Given the description of an element on the screen output the (x, y) to click on. 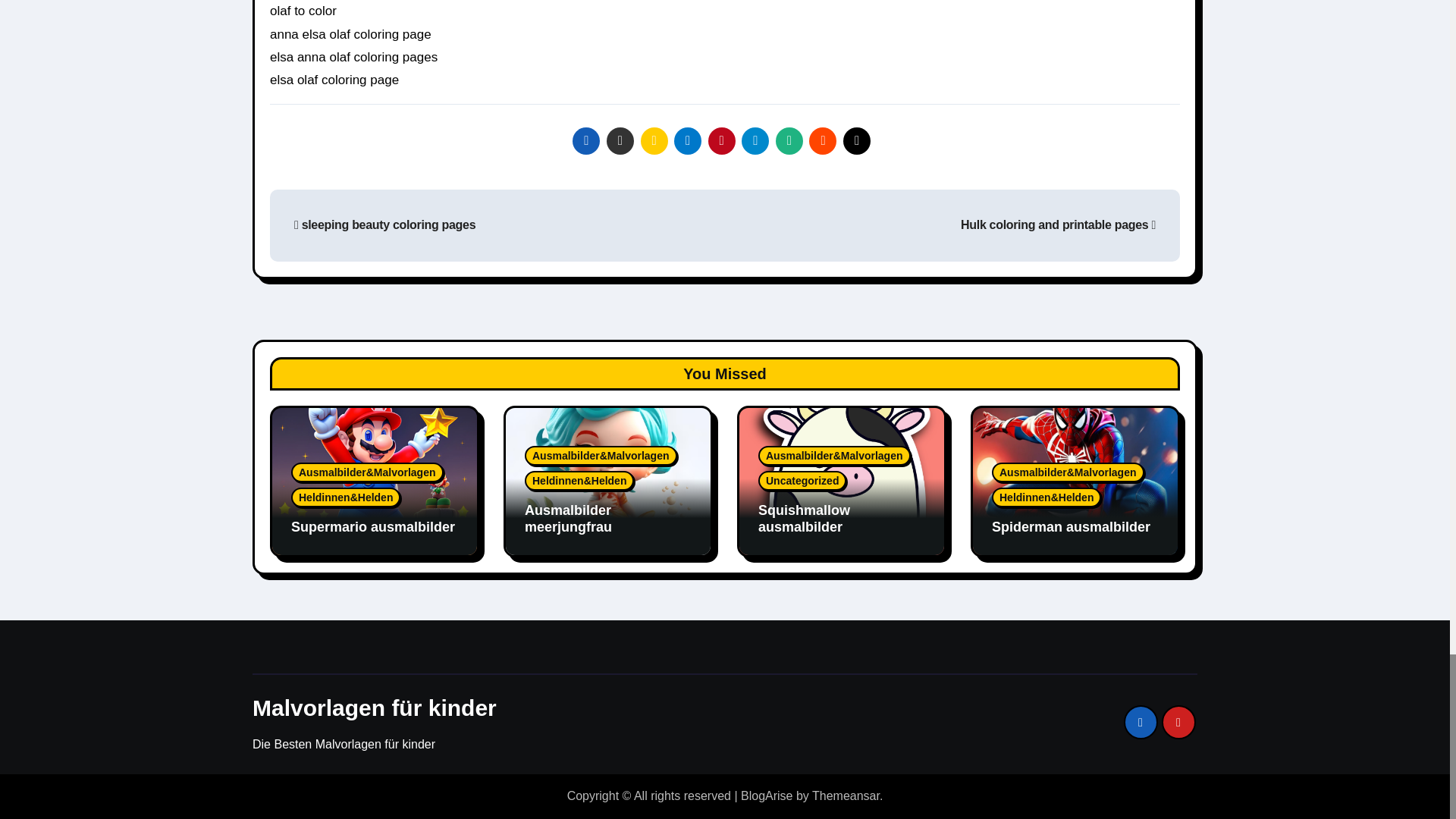
Permalink to: Ausmalbilder meerjungfrau (567, 518)
sleeping beauty coloring pages (385, 224)
Hulk coloring and printable pages (1058, 224)
Permalink to: Squishmallow ausmalbilder (804, 518)
Permalink to: Spiderman ausmalbilder (1070, 526)
Permalink to: Supermario ausmalbilder (372, 526)
